Given the description of an element on the screen output the (x, y) to click on. 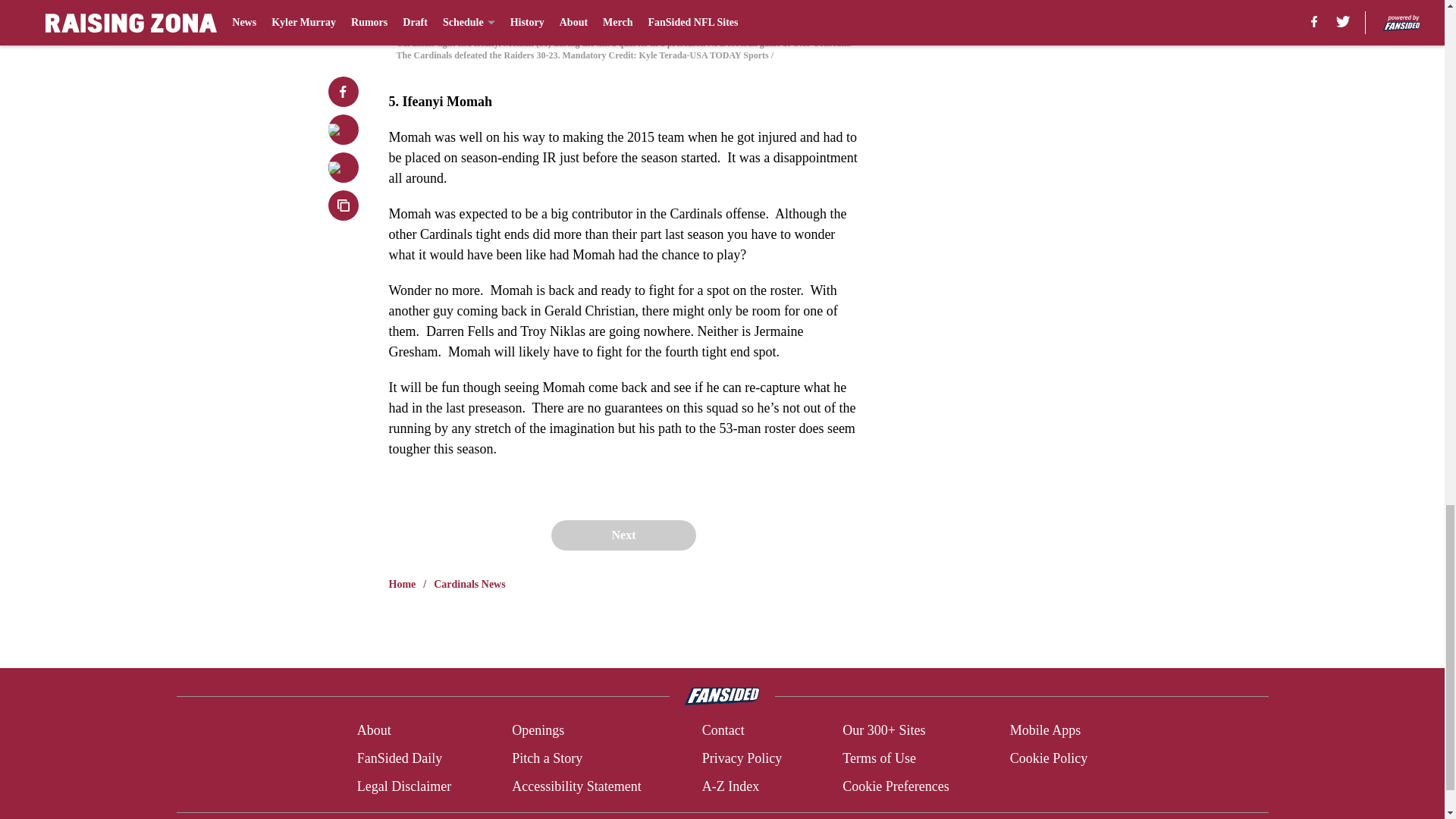
Legal Disclaimer (403, 786)
Openings (538, 730)
Next (622, 535)
Cookie Policy (1048, 758)
Mobile Apps (1045, 730)
Contact (722, 730)
Accessibility Statement (576, 786)
Home (401, 584)
Pitch a Story (547, 758)
Terms of Use (879, 758)
